Given the description of an element on the screen output the (x, y) to click on. 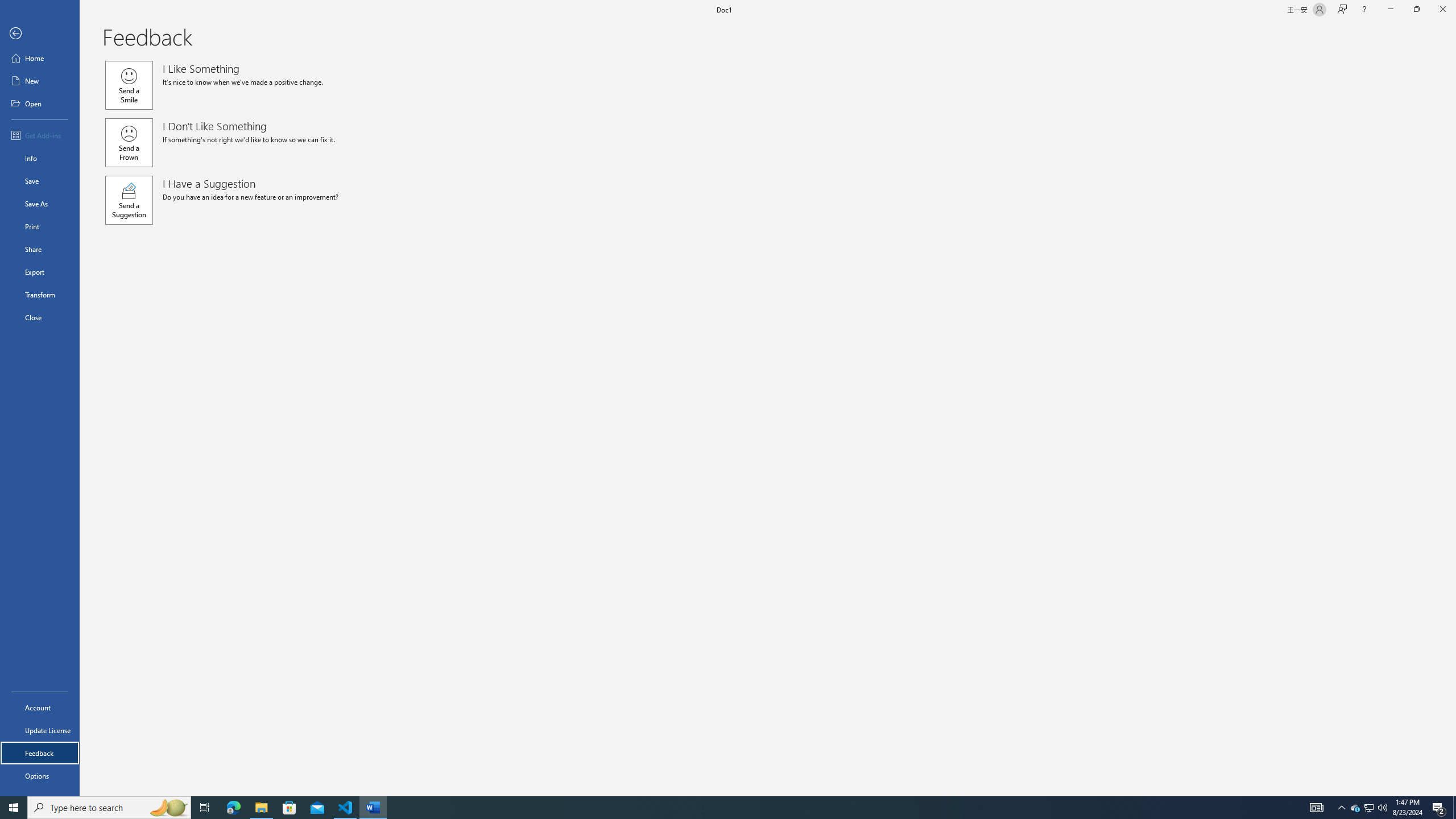
Get Add-ins (40, 134)
New (40, 80)
Send a Frown (128, 142)
Feedback (40, 753)
Send a Smile (128, 84)
Update License (40, 730)
Export (40, 271)
Account (40, 707)
Options (40, 775)
